Given the description of an element on the screen output the (x, y) to click on. 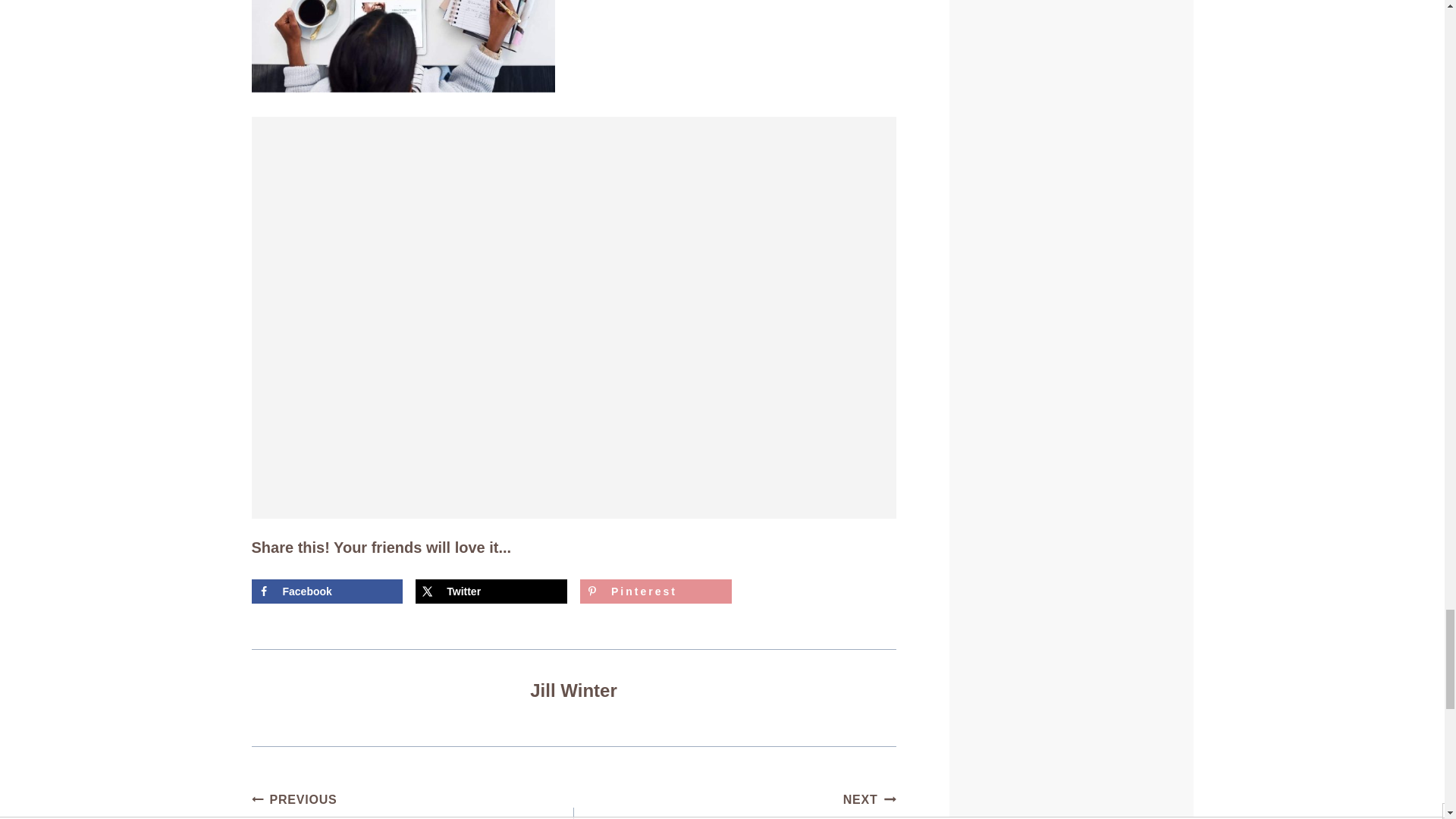
Posts by Jill Winter (572, 690)
Facebook (327, 591)
Save to Pinterest (655, 591)
Share on Facebook (327, 591)
Twitter (490, 591)
Share on X (490, 591)
Pinterest (655, 591)
Jill Winter (572, 690)
